Given the description of an element on the screen output the (x, y) to click on. 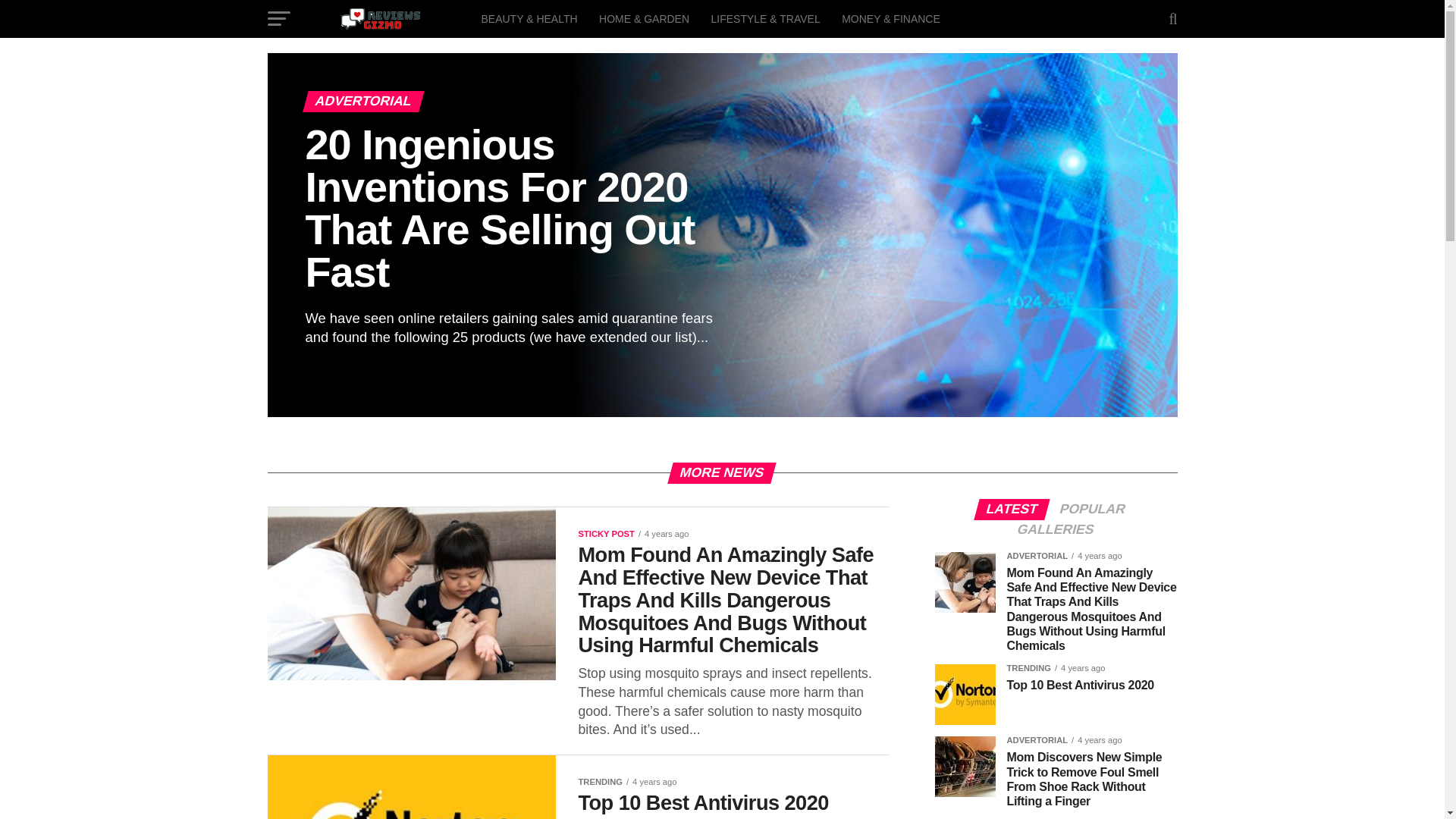
GALLERIES (1055, 530)
POPULAR (1092, 509)
LATEST (1011, 509)
